Given the description of an element on the screen output the (x, y) to click on. 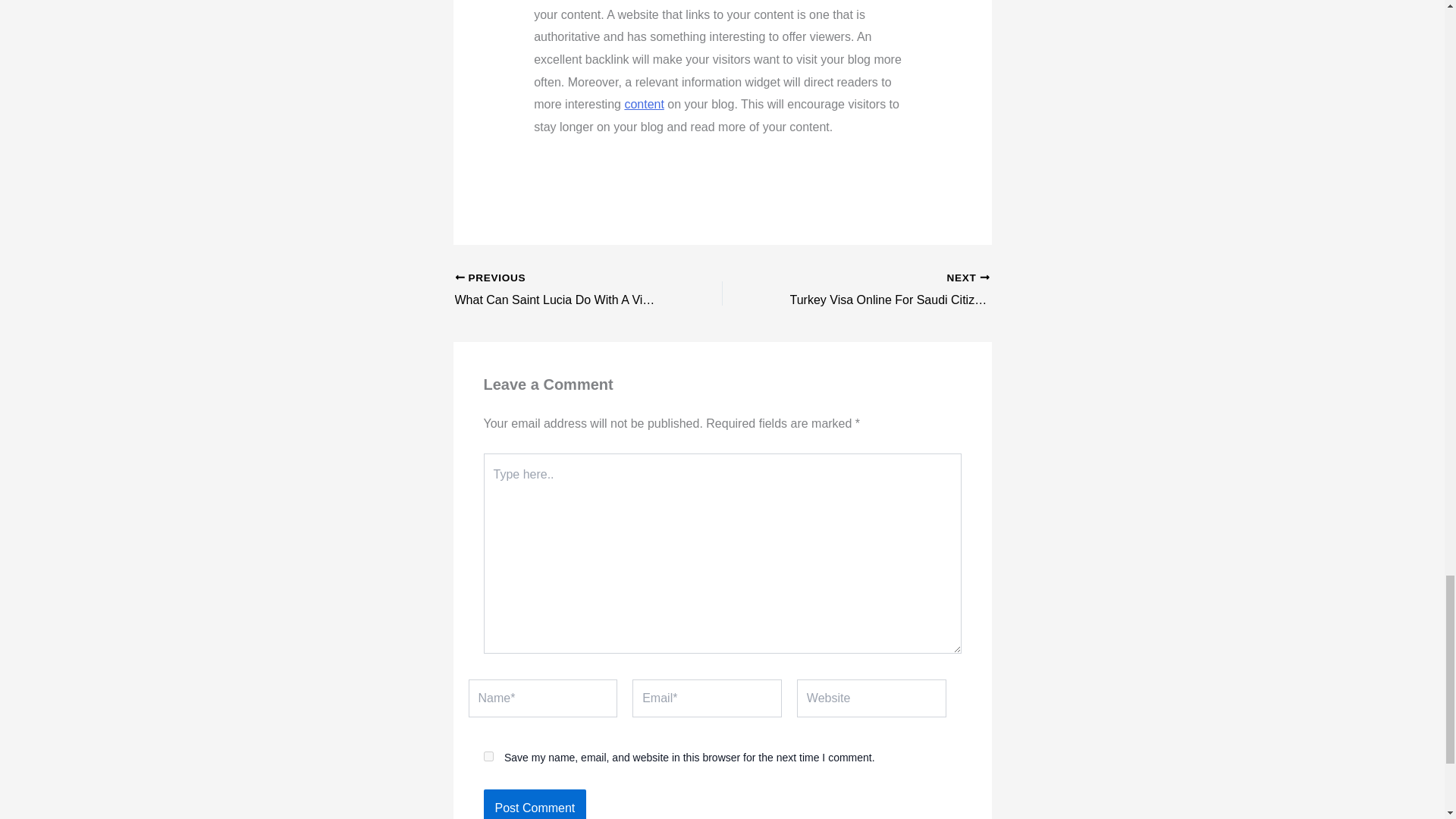
content (643, 103)
Post Comment (534, 804)
Turkey Visa Online For Saudi Citizens (561, 290)
yes (882, 290)
What Can Saint Lucia Do With A Visa To Turkey? (488, 755)
Post Comment (561, 290)
